Given the description of an element on the screen output the (x, y) to click on. 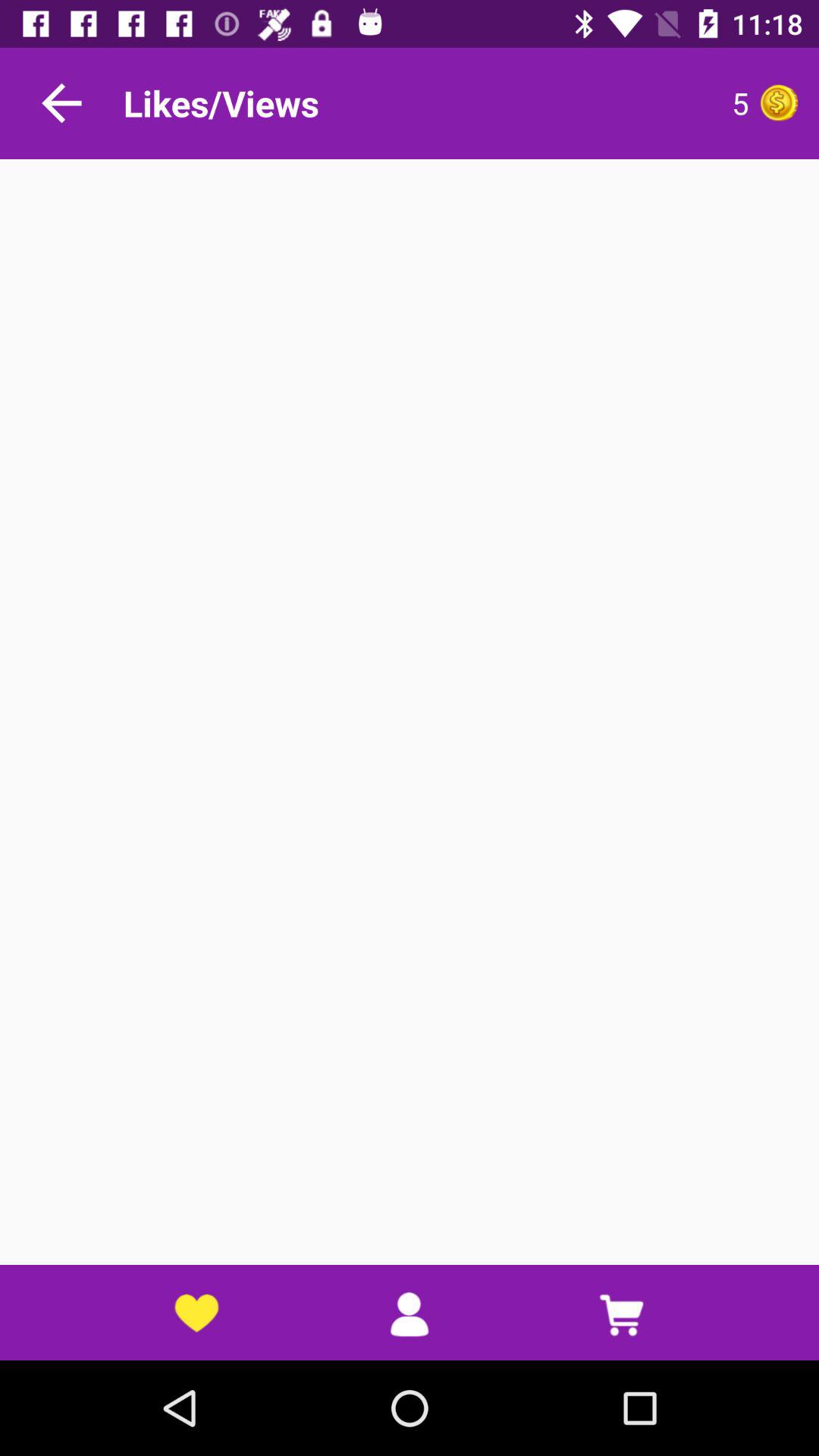
like (779, 102)
